Given the description of an element on the screen output the (x, y) to click on. 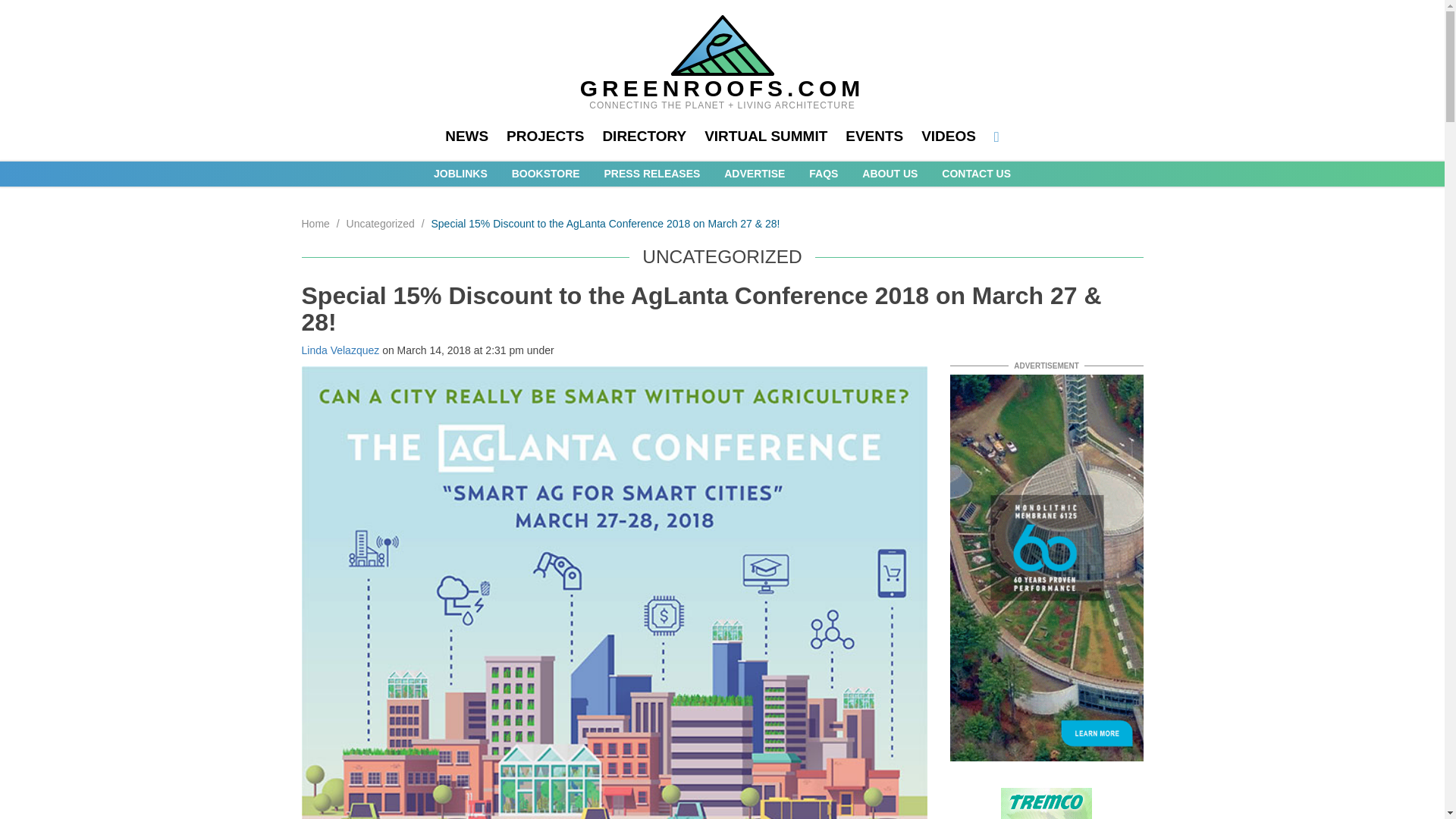
Uncategorized (380, 223)
EVENTS (873, 135)
VIDEOS (948, 135)
ABOUT US (889, 173)
ADVERTISE (753, 173)
PRESS RELEASES (652, 173)
FAQS (823, 173)
NEWS (466, 135)
VIRTUAL SUMMIT (765, 135)
PROJECTS (544, 135)
Linda Velazquez (340, 349)
BOOKSTORE (545, 173)
JOBLINKS (460, 173)
DIRECTORY (643, 135)
Home (315, 223)
